Given the description of an element on the screen output the (x, y) to click on. 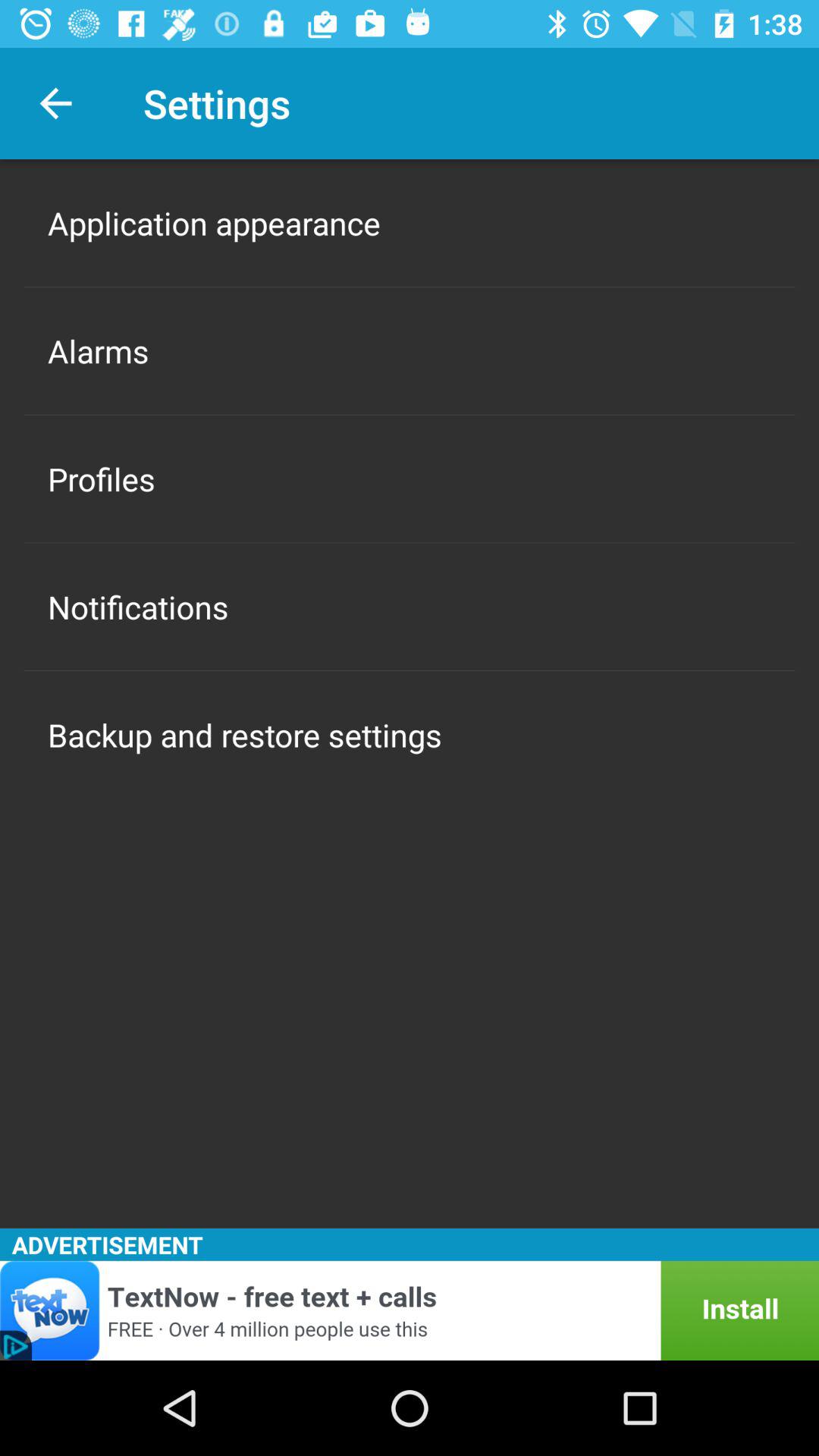
click the icon above the application appearance icon (55, 103)
